Given the description of an element on the screen output the (x, y) to click on. 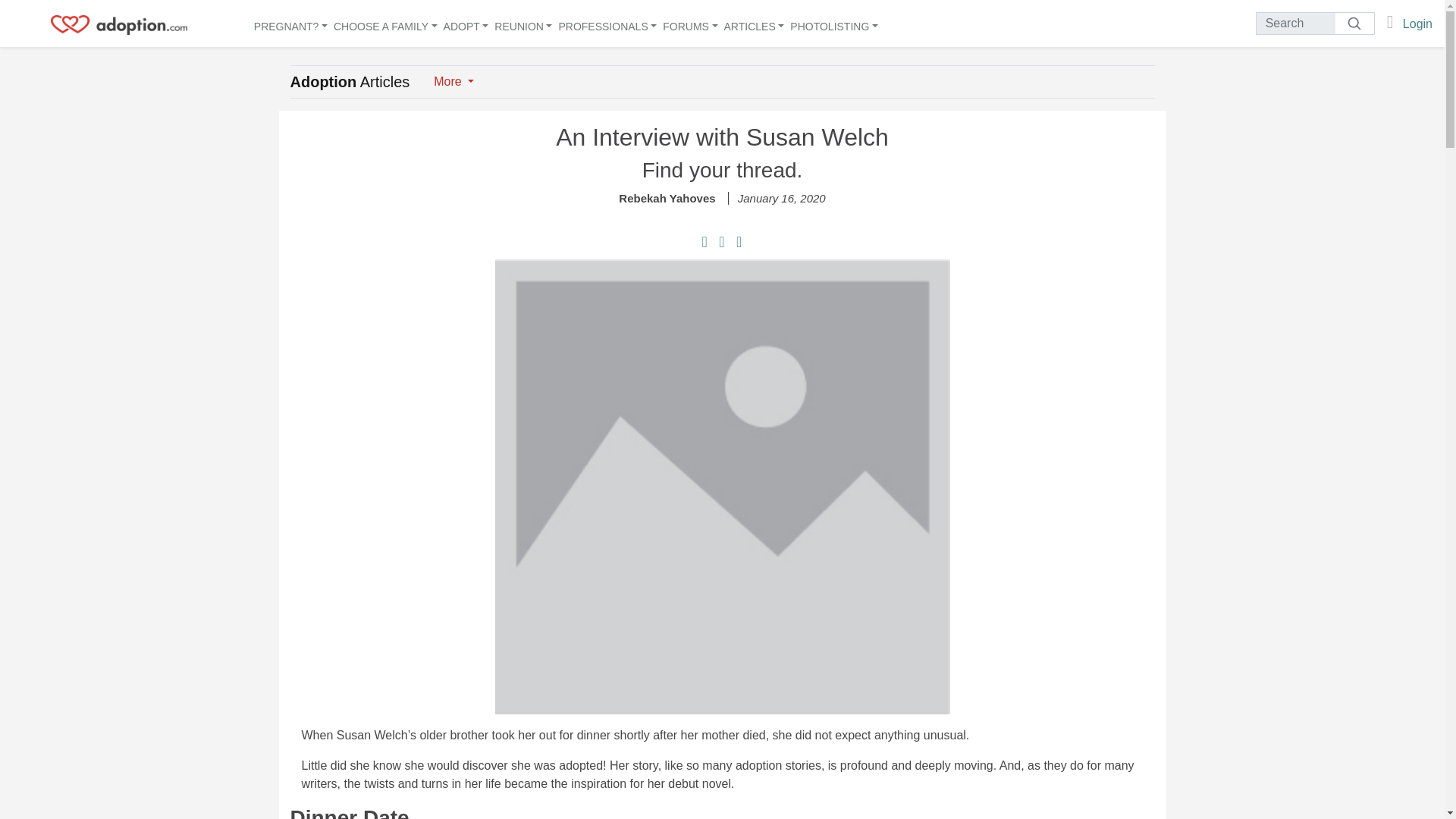
ADOPT (466, 23)
PREGNANT? (290, 23)
Pinterest (723, 242)
CHOOSE A FAMILY (385, 23)
Twitter (738, 242)
REUNION (523, 23)
Facebook (707, 242)
